Given the description of an element on the screen output the (x, y) to click on. 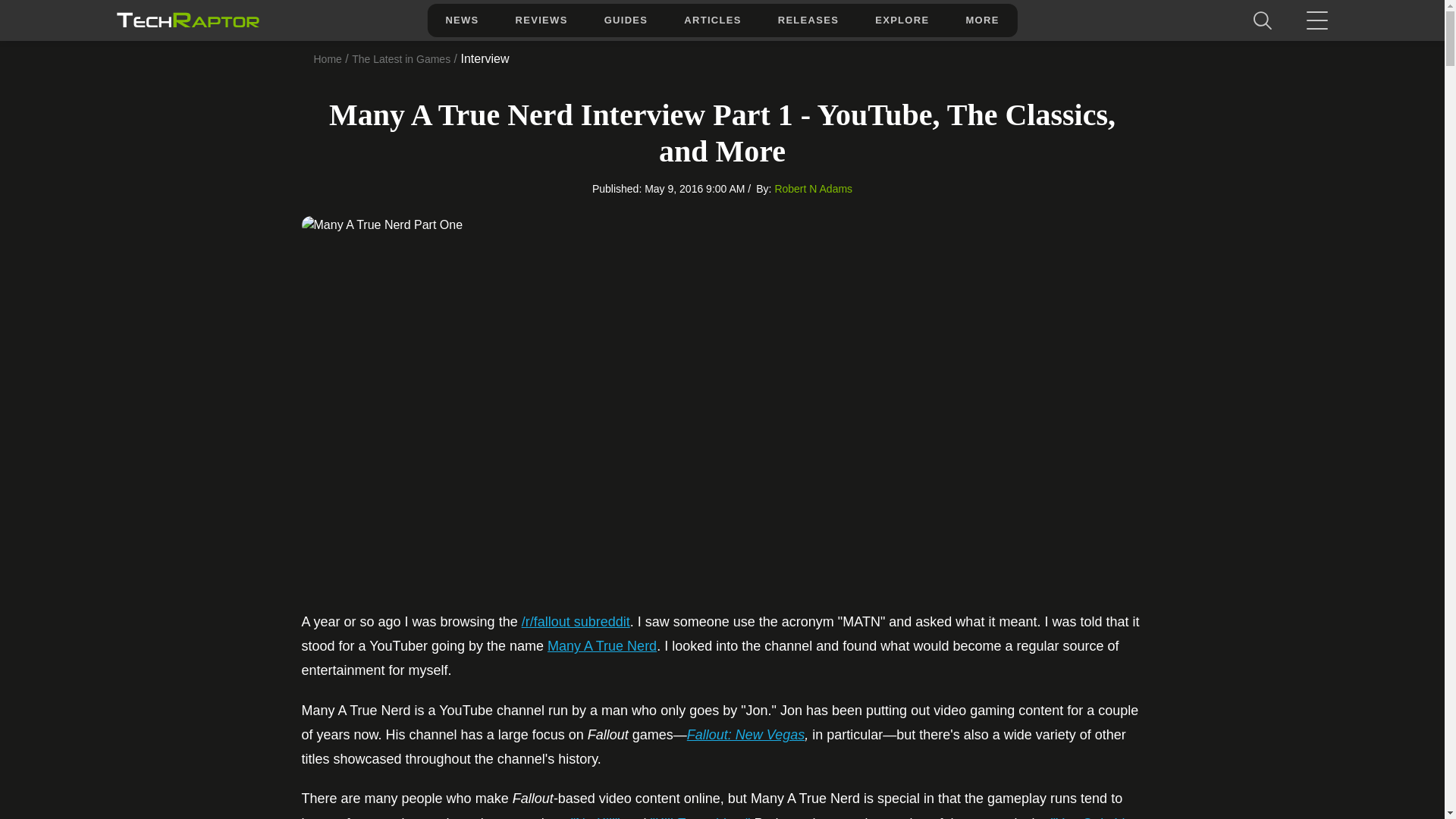
TechRaptor Home (187, 20)
NEWS (461, 20)
GUIDES (626, 20)
RELEASES (807, 20)
ARTICLES (711, 20)
REVIEWS (541, 20)
